Given the description of an element on the screen output the (x, y) to click on. 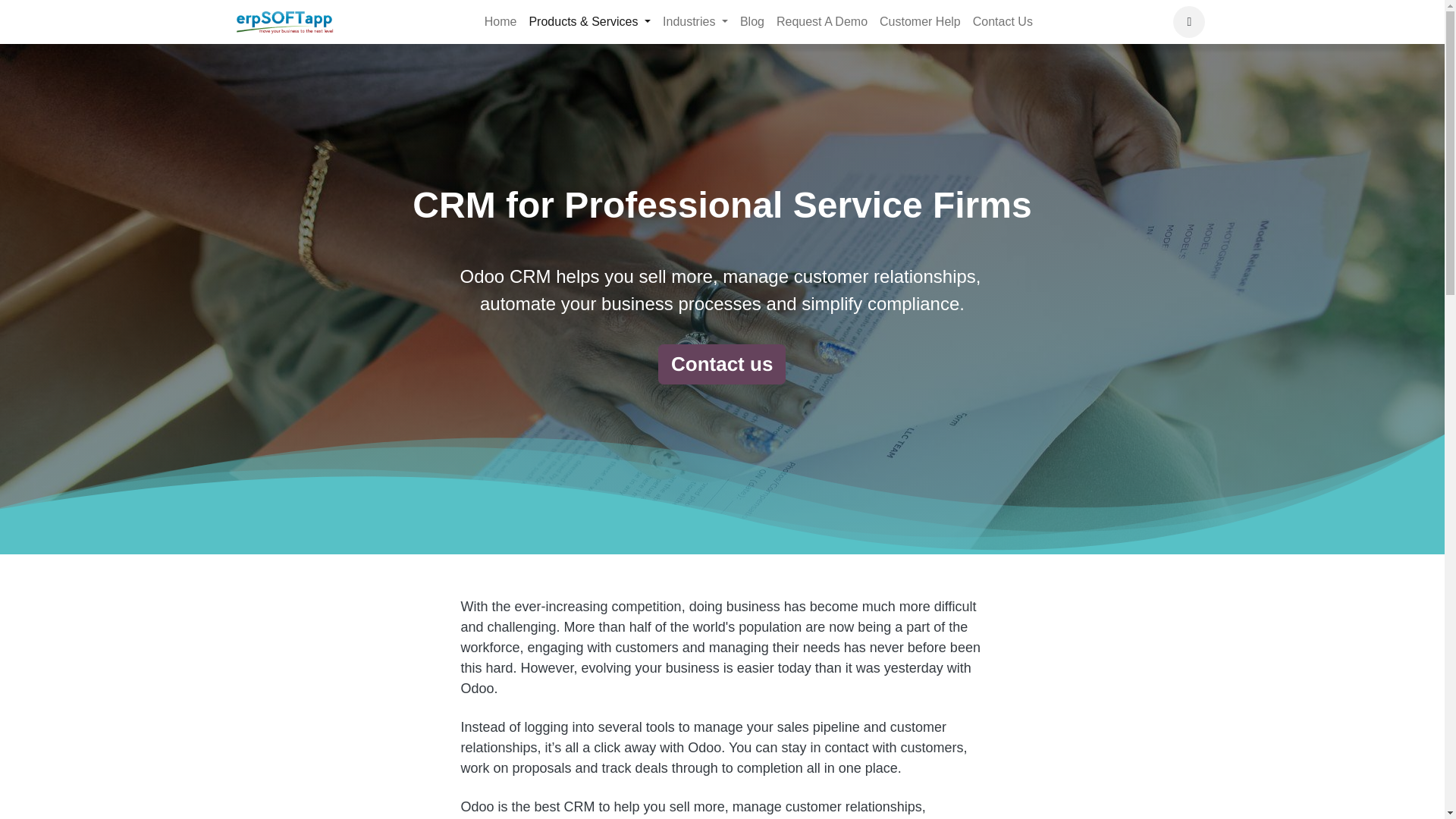
Search (1189, 21)
Customer Help (919, 21)
Contact Us (1002, 21)
erpSOFTapp (284, 21)
Industries (694, 21)
Blog (751, 21)
Home (500, 21)
Request A Demo (821, 21)
